Given the description of an element on the screen output the (x, y) to click on. 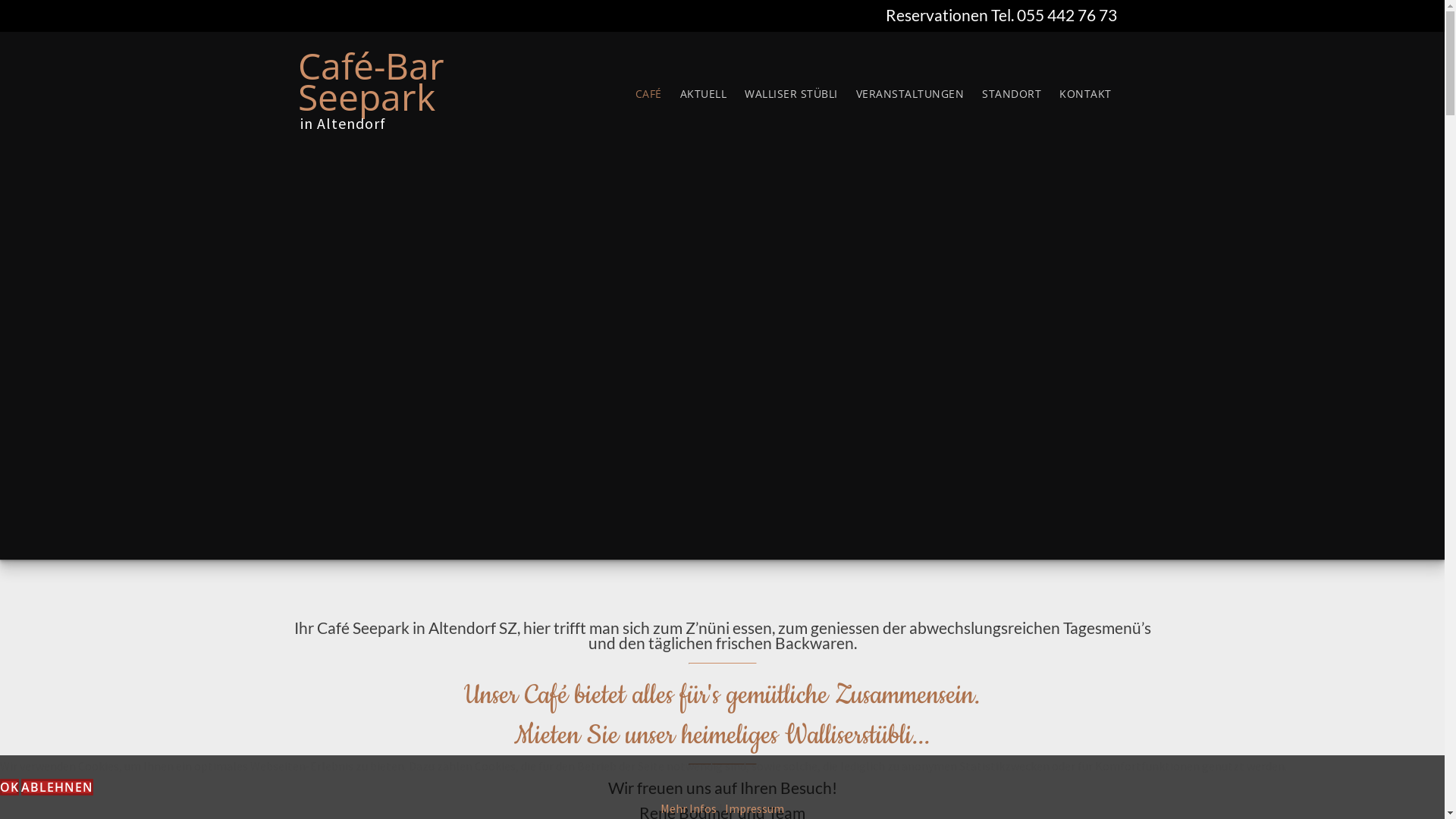
Tel. 055 442 76 73 Element type: text (1053, 14)
Mehr Infos Element type: text (688, 807)
Impressum Element type: text (754, 807)
AKTUELL Element type: text (702, 92)
ABLEHNEN Element type: text (57, 786)
STANDORT Element type: text (1011, 92)
VERANSTALTUNGEN Element type: text (909, 92)
KONTAKT Element type: text (1085, 92)
OK Element type: text (9, 786)
